Given the description of an element on the screen output the (x, y) to click on. 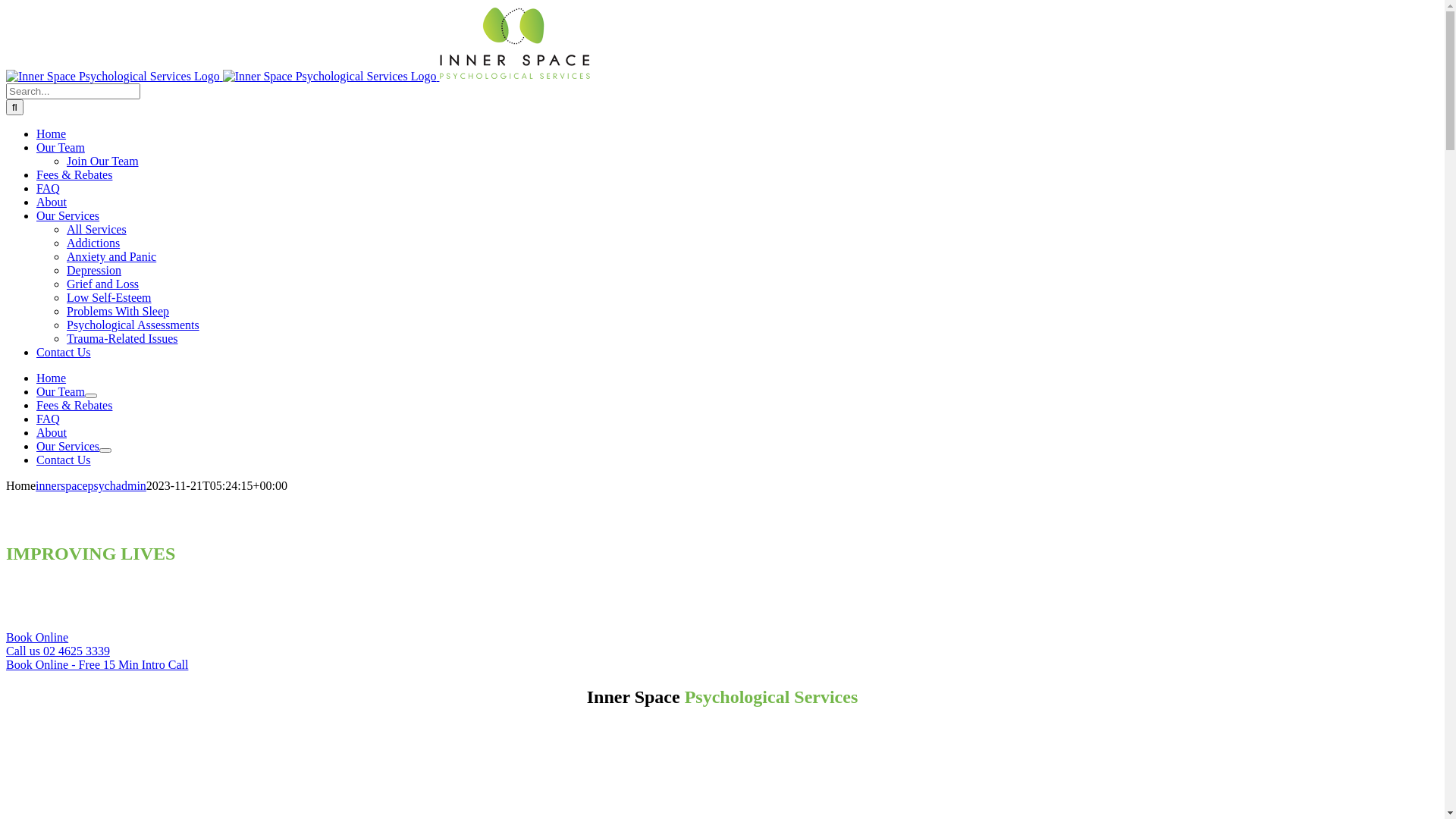
Our Team Element type: text (60, 147)
Fees & Rebates Element type: text (74, 174)
Anxiety and Panic Element type: text (111, 256)
Our Services Element type: text (67, 215)
FAQ Element type: text (47, 188)
Contact Us Element type: text (63, 459)
Home Element type: text (50, 133)
Trauma-Related Issues Element type: text (122, 338)
About Element type: text (51, 432)
Depression Element type: text (93, 269)
All Services Element type: text (96, 228)
Contact Us Element type: text (63, 351)
Addictions Element type: text (92, 242)
Skip to content Element type: text (5, 5)
Call us 02 4625 3339 Element type: text (57, 650)
Low Self-Esteem Element type: text (108, 297)
Grief and Loss Element type: text (102, 283)
Fees & Rebates Element type: text (74, 404)
FAQ Element type: text (47, 418)
Home Element type: text (50, 377)
Psychological Assessments Element type: text (132, 324)
Problems With Sleep Element type: text (117, 310)
Book Online Element type: text (37, 636)
Join Our Team Element type: text (102, 160)
Our Team Element type: text (60, 391)
innerspacepsychadmin Element type: text (90, 485)
Book Online - Free 15 Min Intro Call Element type: text (97, 664)
Our Services Element type: text (67, 445)
About Element type: text (51, 201)
